Given the description of an element on the screen output the (x, y) to click on. 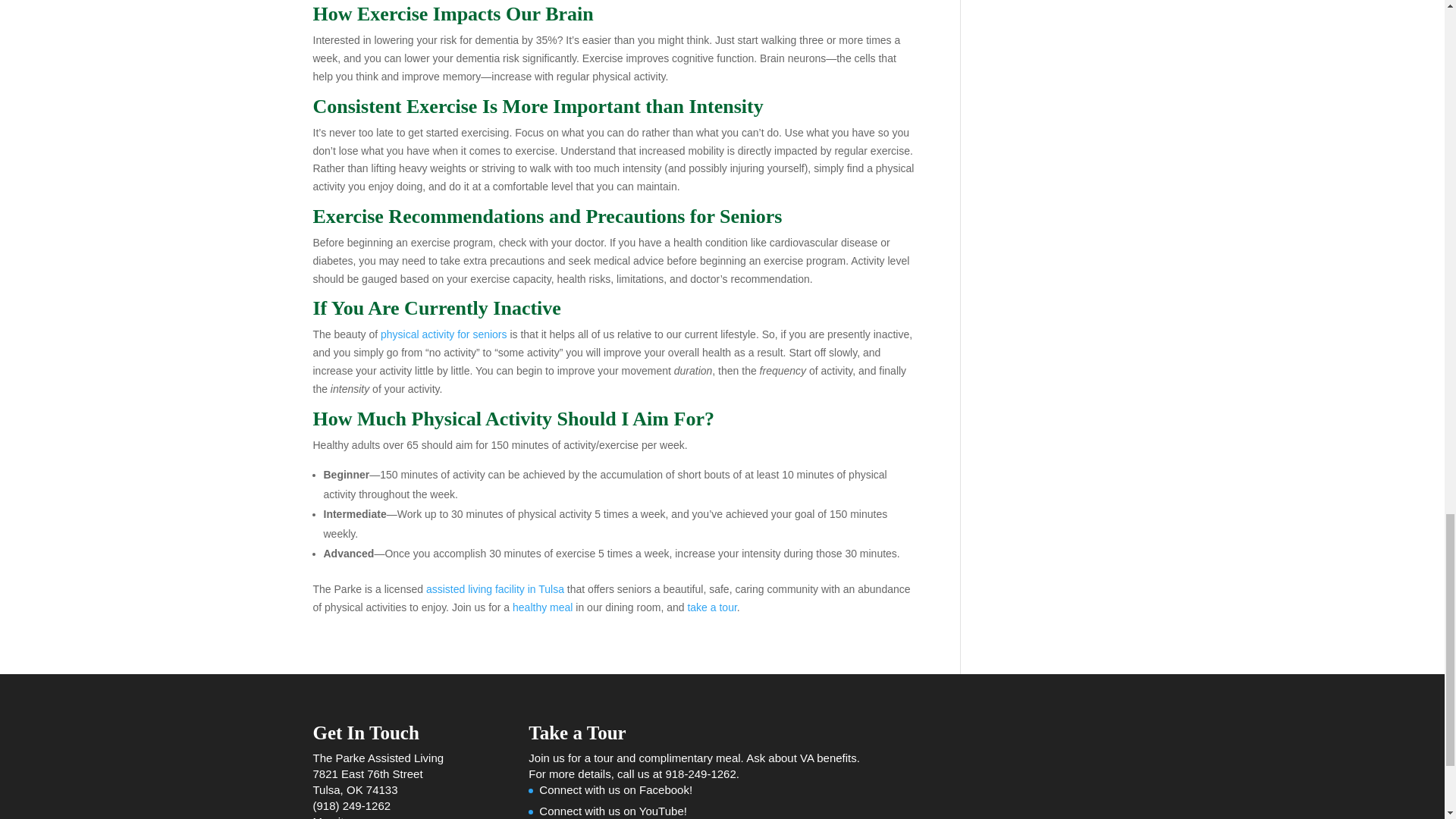
healthy meal (542, 607)
Connect with us on YouTube! (612, 810)
assisted living facility in Tulsa (495, 589)
Connect with us on Facebook! (615, 789)
take a tour (711, 607)
Map it (328, 816)
physical activity for seniors (443, 334)
